Given the description of an element on the screen output the (x, y) to click on. 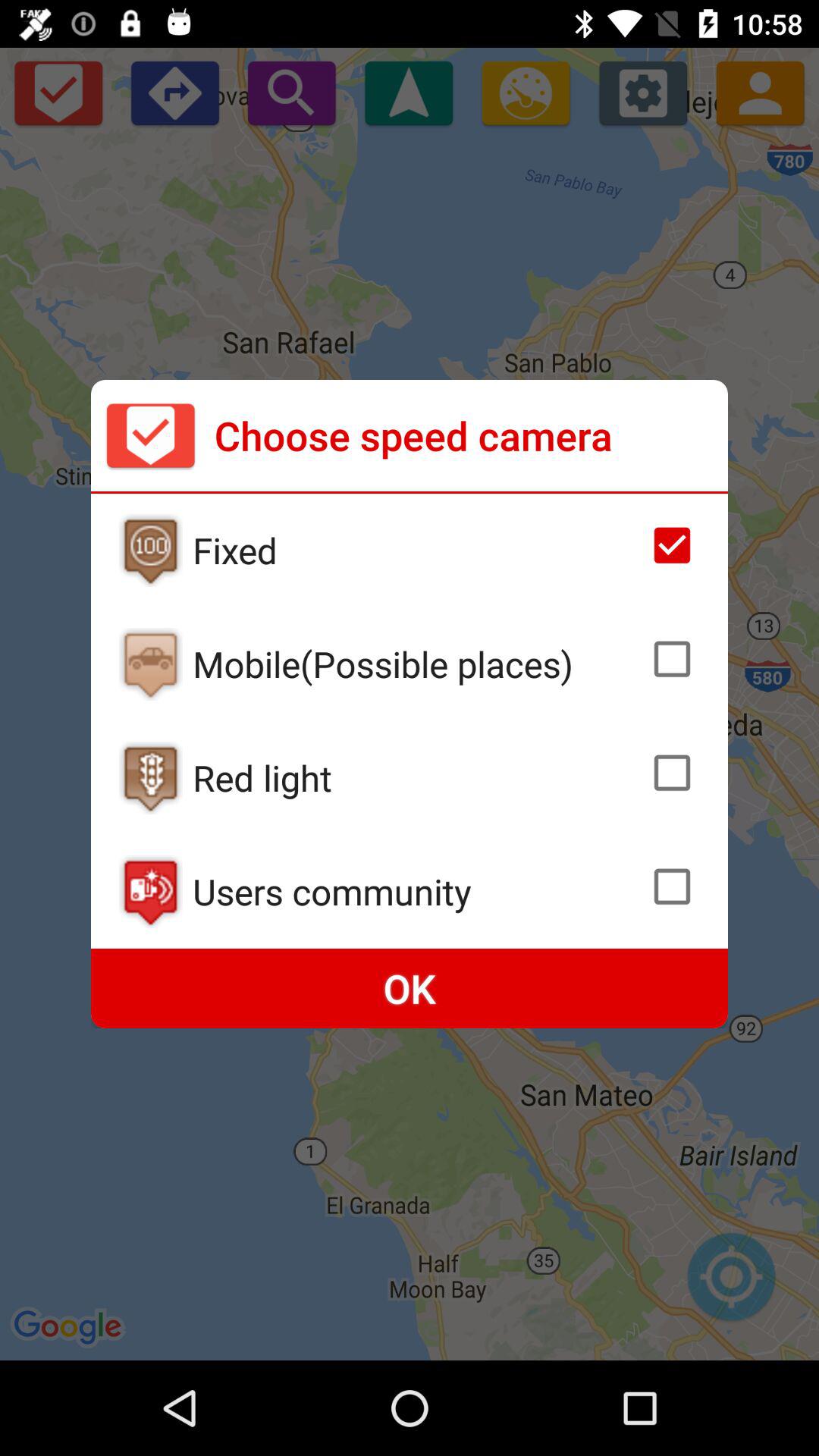
toggle red light cameras (672, 772)
